Given the description of an element on the screen output the (x, y) to click on. 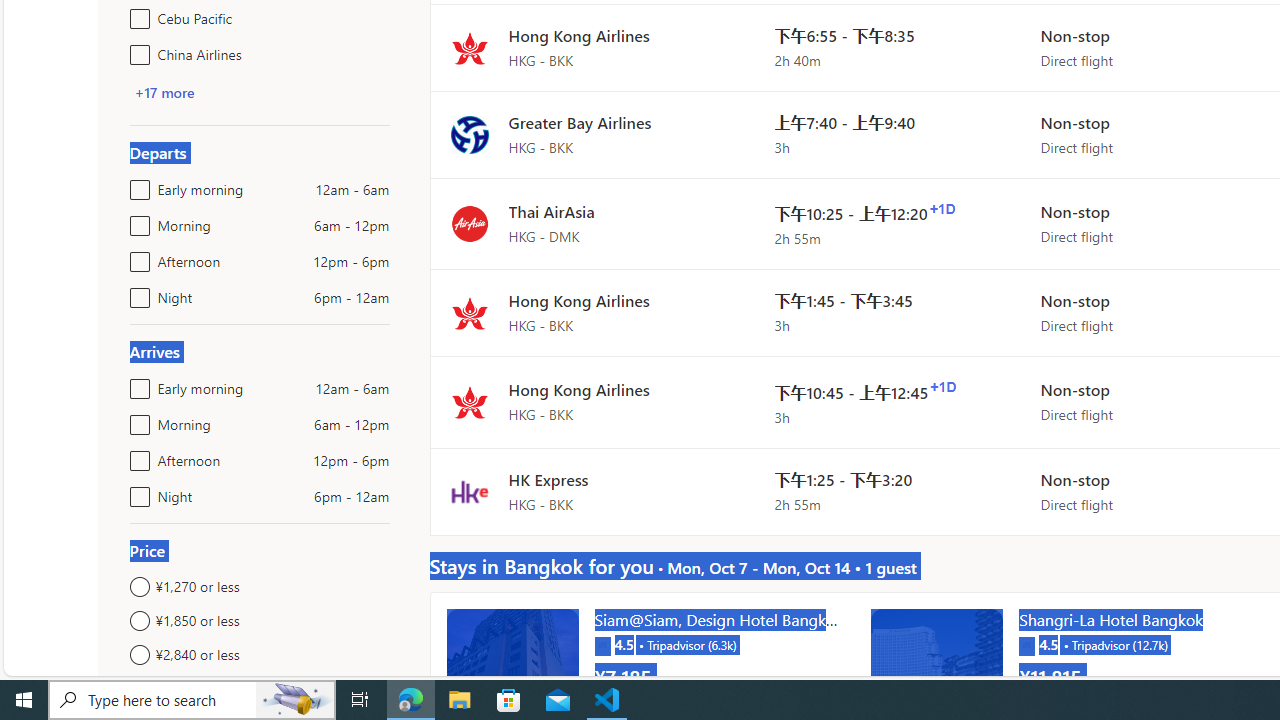
Afternoon12pm - 6pm (136, 456)
Flight logo (469, 491)
Tripadvisor (1026, 644)
Night6pm - 12am (136, 492)
Morning6am - 12pm (136, 420)
China Airlines (136, 50)
Any price (259, 688)
Cebu Pacific (136, 14)
+17 more (164, 92)
Early morning12am - 6am (136, 384)
